Given the description of an element on the screen output the (x, y) to click on. 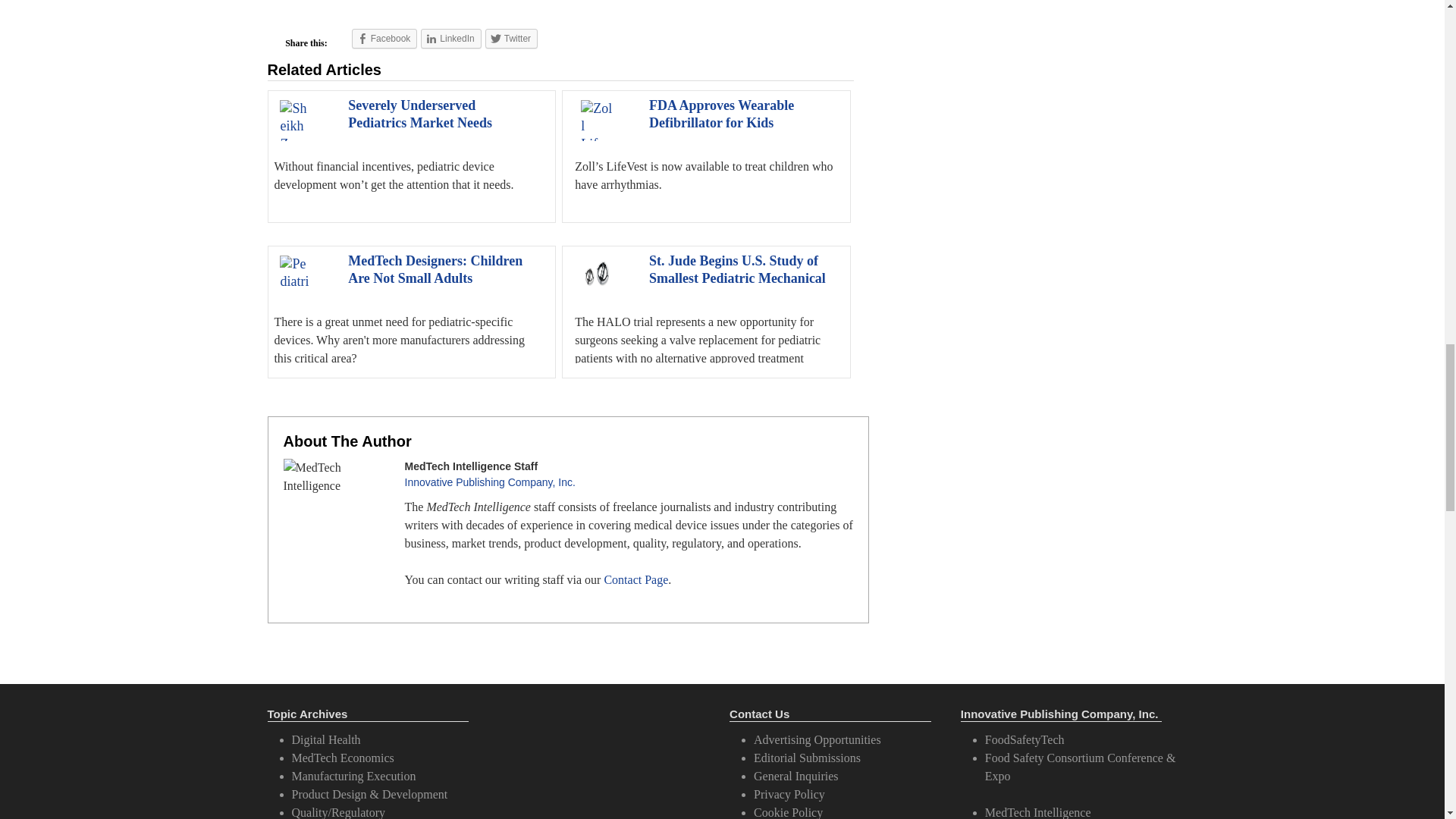
Facebook (384, 38)
Click to share on Facebook (384, 38)
Severely Underserved Pediatrics Market Needs Federal Funding (419, 122)
Twitter (510, 38)
LinkedIn (450, 38)
